Given the description of an element on the screen output the (x, y) to click on. 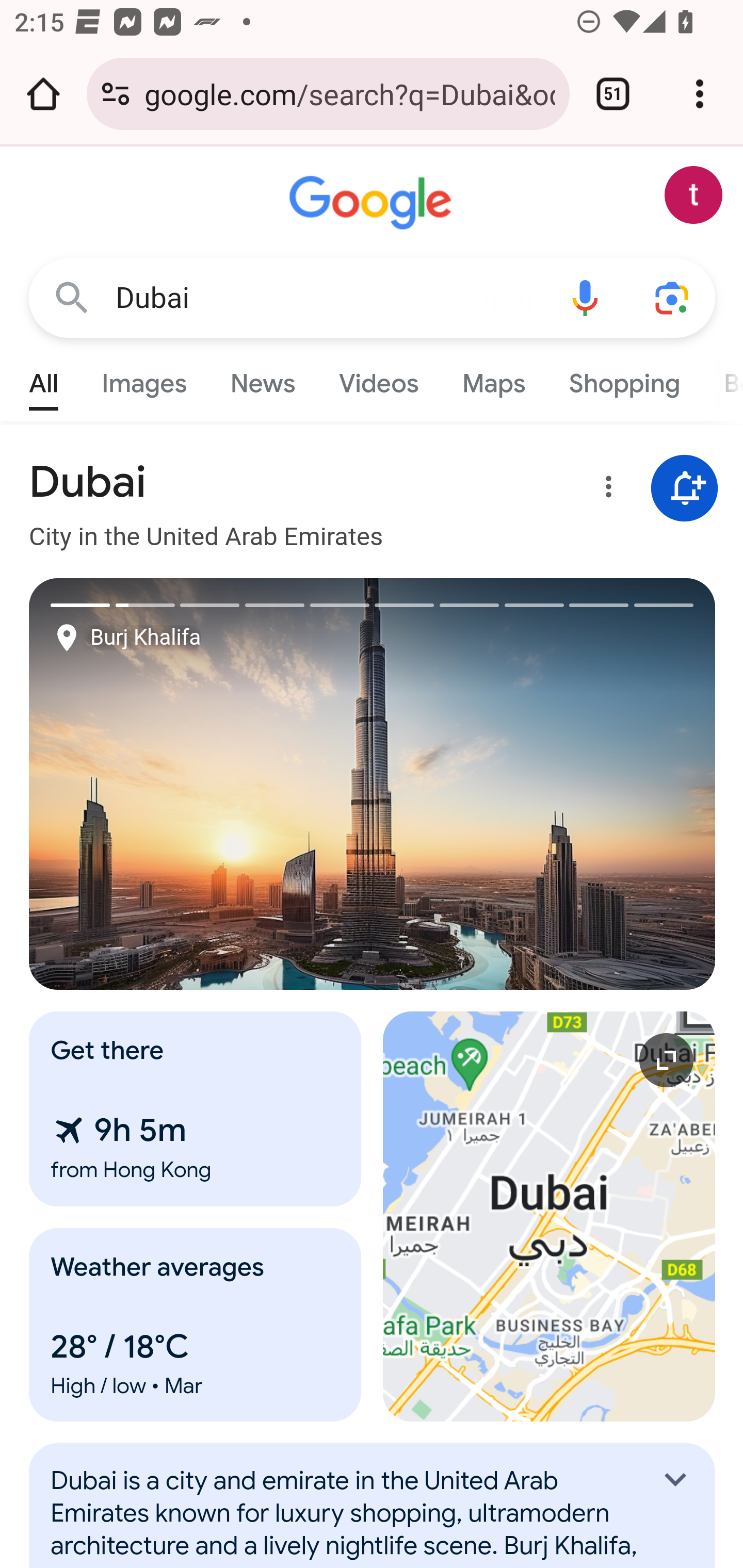
Open the home page (43, 93)
Connection is secure (115, 93)
Switch or close tabs (612, 93)
Customize and control Google Chrome (699, 93)
Google (372, 203)
Google Search (71, 296)
Search using your camera or photos (672, 296)
Dubai (328, 297)
Images (144, 378)
News (262, 378)
Videos (378, 378)
Maps (493, 378)
Shopping (623, 378)
Get notifications about Dubai (684, 489)
More options (605, 489)
Previous image (200, 783)
Next image (544, 783)
Expand map (549, 1216)
Weather averages 28° / 18°C High / low • Mar (195, 1324)
